Given the description of an element on the screen output the (x, y) to click on. 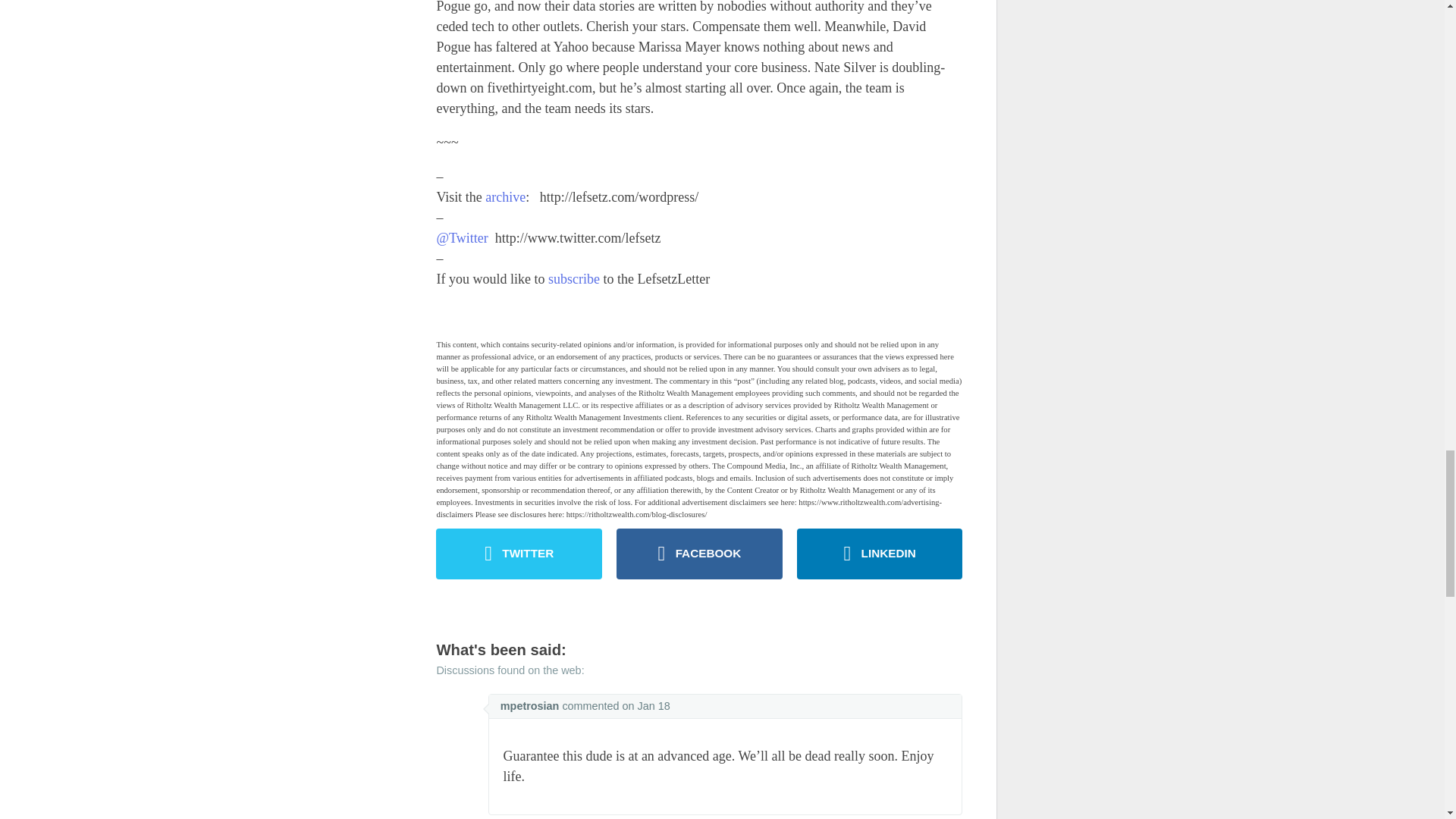
archive (504, 196)
LINKEDIN (879, 553)
TWITTER (518, 553)
mpetrosian (529, 705)
FACEBOOK (699, 553)
subscribe (573, 278)
